Given the description of an element on the screen output the (x, y) to click on. 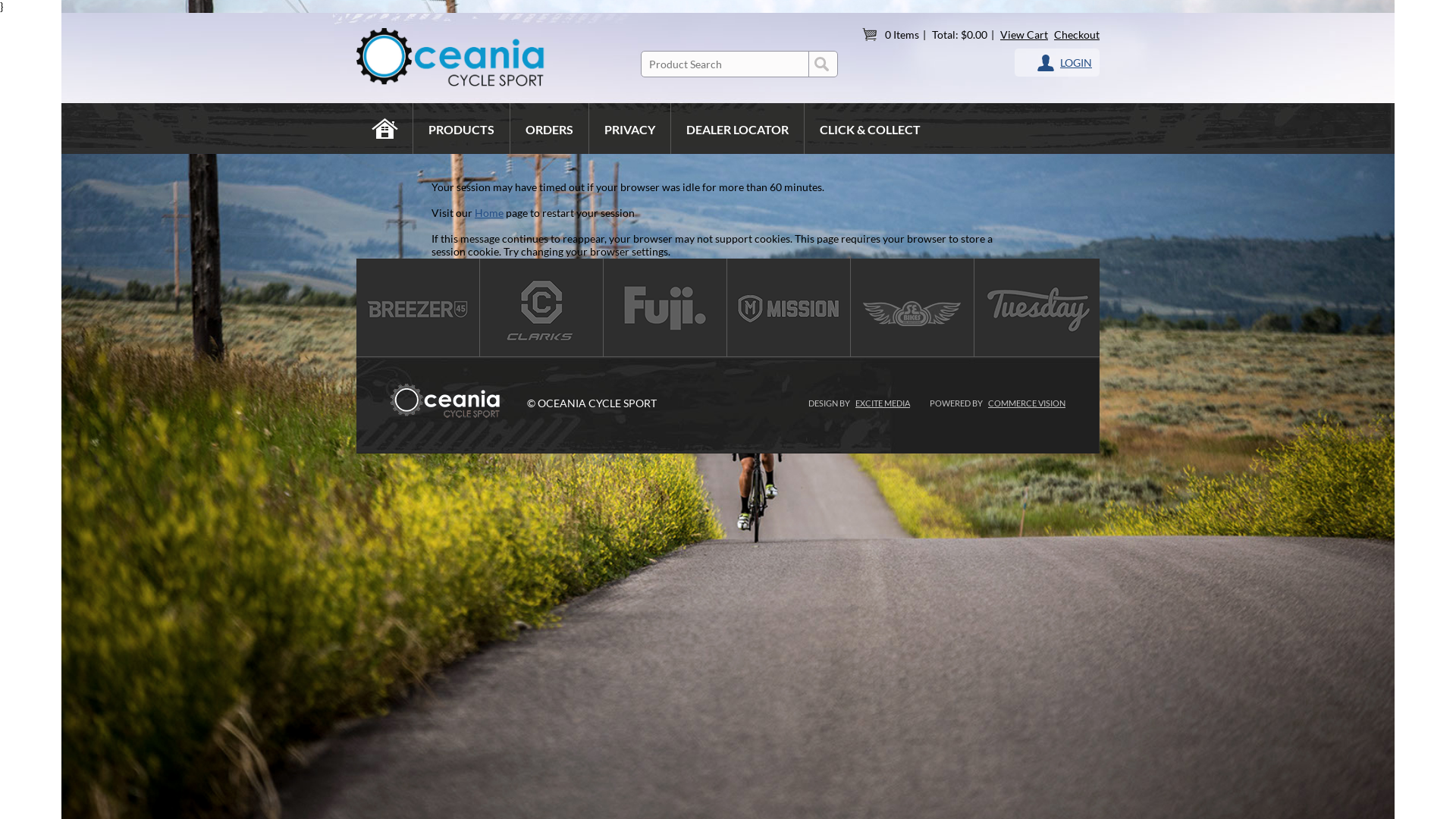
PRODUCTS Element type: text (461, 128)
DEALER LOCATOR Element type: text (737, 128)
EXCITE MEDIA Element type: text (882, 402)
Checkout Element type: text (1076, 34)
HOME Element type: text (384, 128)
PRIVACY Element type: text (630, 128)
ORDERS Element type: text (549, 128)
Home Element type: text (488, 212)
COMMERCE VISION Element type: text (1026, 402)
CLICK & COLLECT Element type: text (869, 128)
View Cart Element type: text (1024, 34)
LOGIN Element type: text (1064, 62)
